Given the description of an element on the screen output the (x, y) to click on. 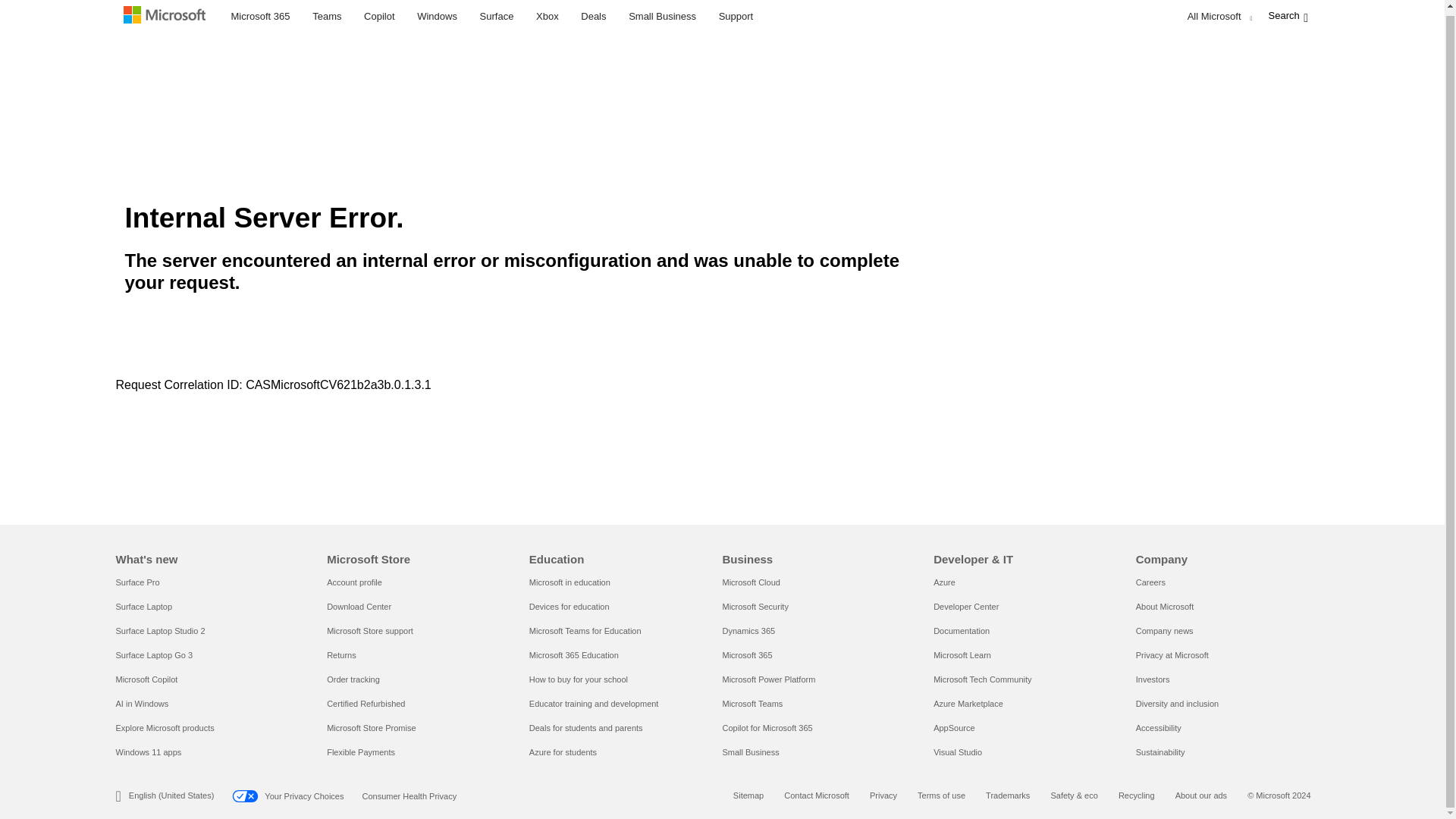
Teams (326, 16)
Copilot (378, 16)
All Microsoft (1217, 18)
Microsoft 365 (260, 16)
Support (735, 16)
Windows (437, 16)
Surface (497, 16)
Deals (592, 16)
Small Business (662, 16)
Microsoft (167, 18)
Xbox (547, 16)
